Given the description of an element on the screen output the (x, y) to click on. 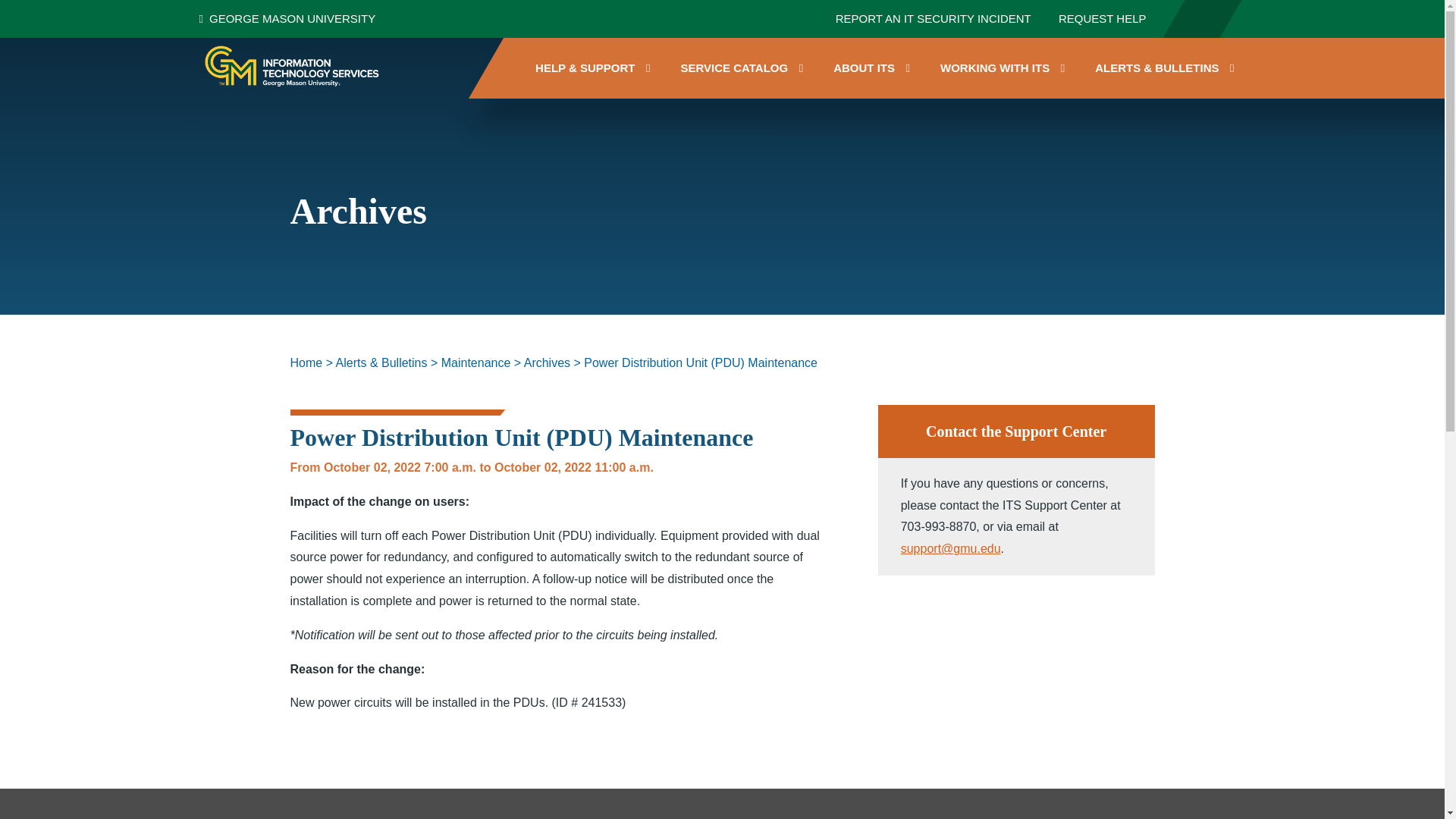
Go to Information Technology Services. (305, 362)
Go to the Archives Category archives. (547, 362)
Information Technology Services (295, 65)
Go to Maintenance. (476, 362)
